Given the description of an element on the screen output the (x, y) to click on. 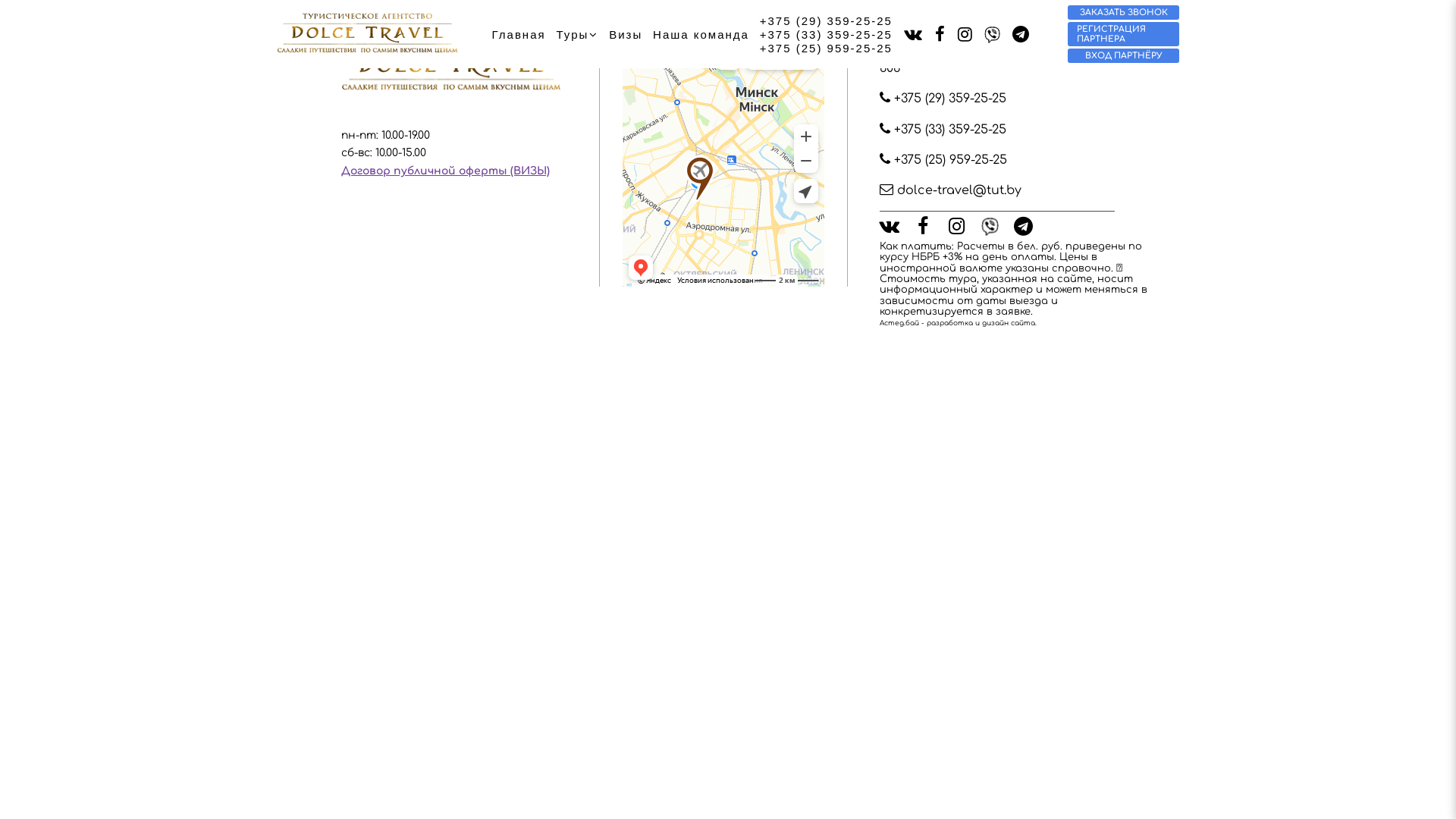
dolce-travel@tut.by Element type: text (950, 190)
+375 (25) 959-25-25 Element type: text (950, 159)
+375 (29) 359-25-25 Element type: text (826, 20)
+375 (25) 959-25-25 Element type: text (826, 47)
+375 (33) 359-25-25 Element type: text (826, 33)
+375 (29) 359-25-25 Element type: text (950, 98)
+375 (33) 359-25-25 Element type: text (950, 129)
